Given the description of an element on the screen output the (x, y) to click on. 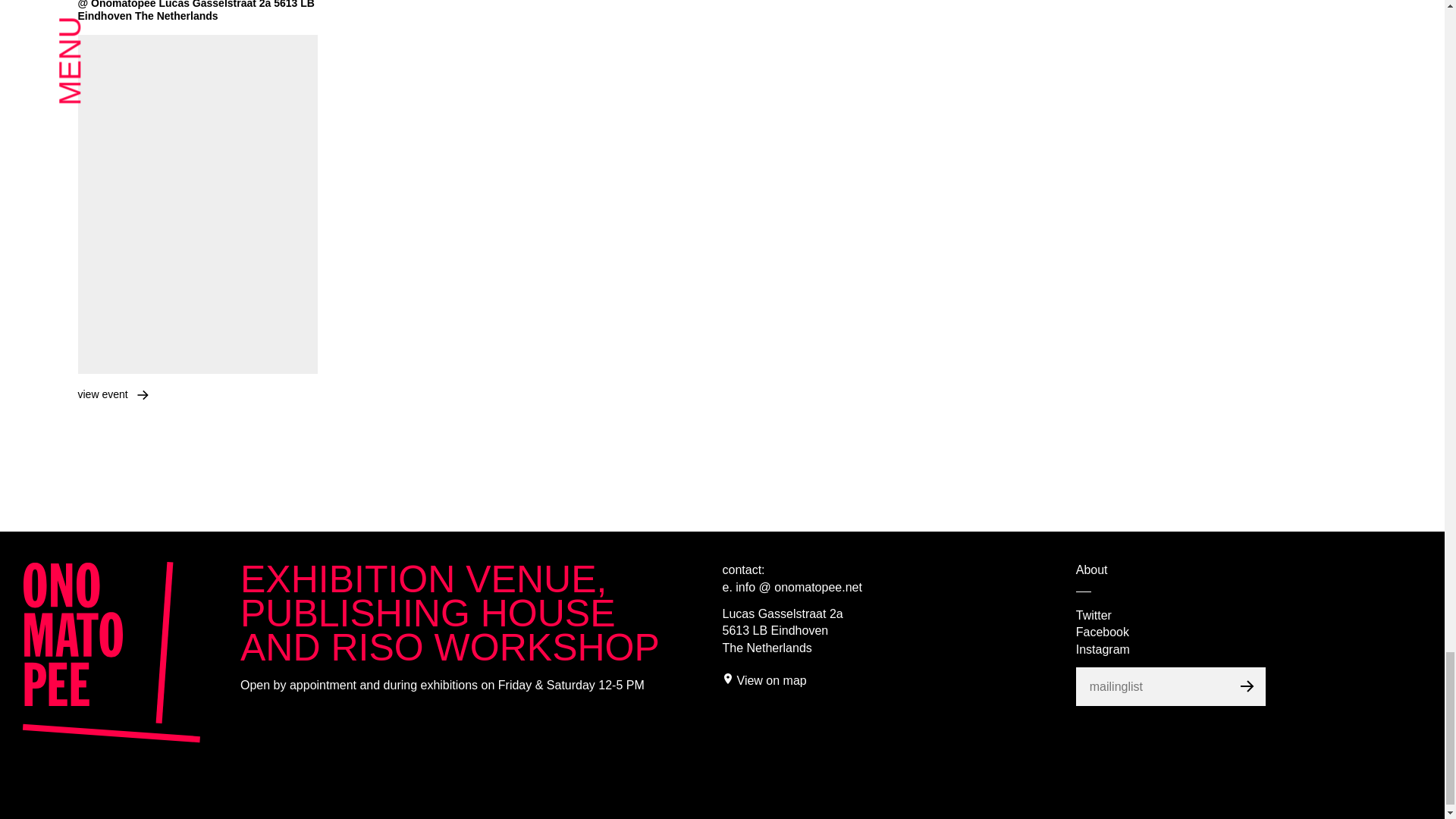
View on map (771, 680)
About (1091, 569)
view event (102, 394)
Twitter (1093, 615)
footer-logo Created with Sketch. (112, 651)
Facebook (1102, 631)
Instagram (1102, 649)
